Given the description of an element on the screen output the (x, y) to click on. 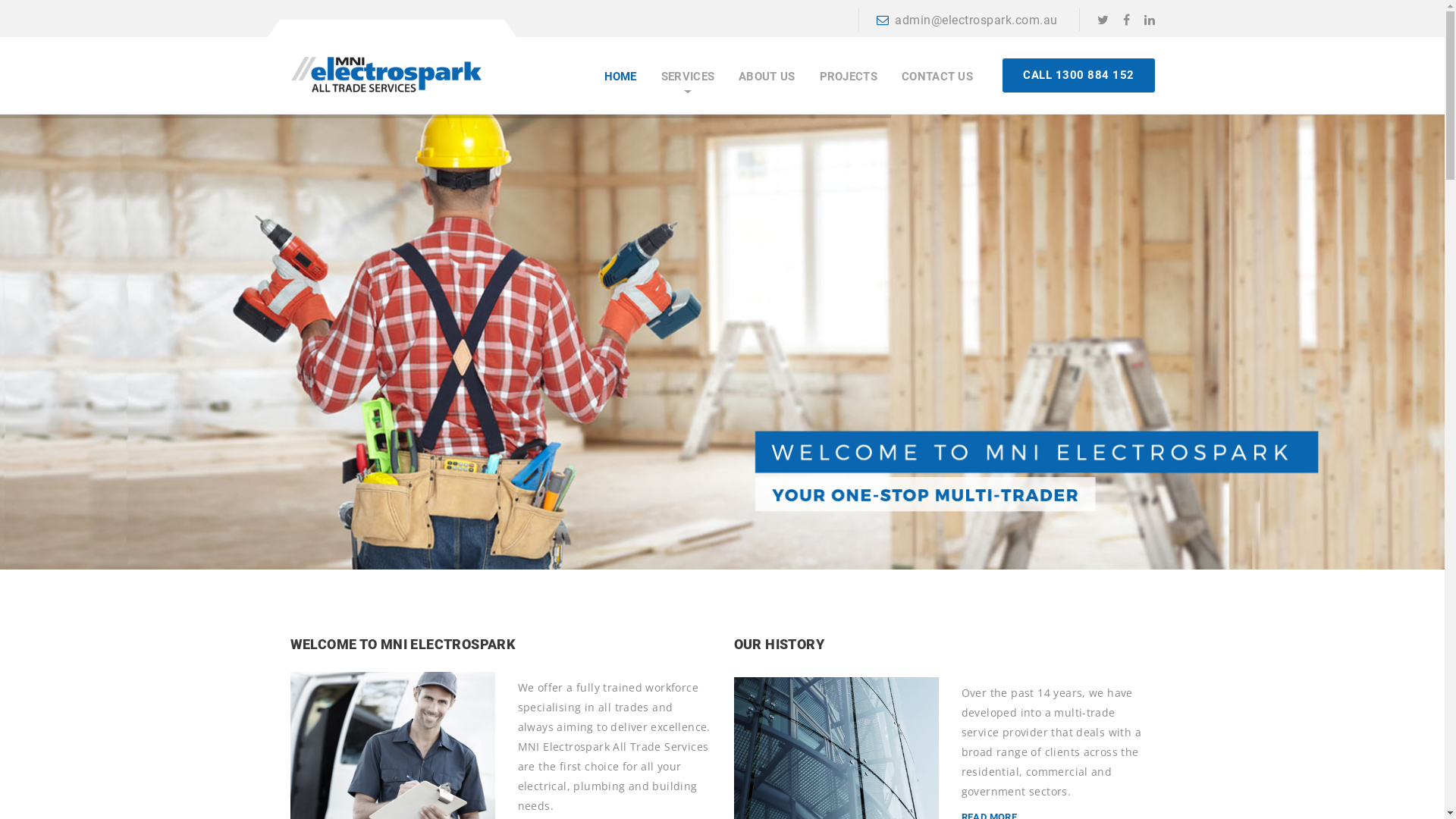
Twitter Element type: hover (1101, 19)
Facebook Element type: hover (1125, 19)
PROJECTS Element type: text (848, 76)
admin@electrospark.com.au Element type: text (966, 19)
ABOUT US Element type: text (766, 76)
LinkedIn Element type: hover (1148, 19)
HOME Element type: text (620, 76)
CALL 1300 884 152 Element type: text (1078, 75)
SERVICES Element type: text (687, 76)
Welcome to MNI Electrospark All Trade Services. Element type: hover (385, 68)
CONTACT US Element type: text (936, 76)
